Given the description of an element on the screen output the (x, y) to click on. 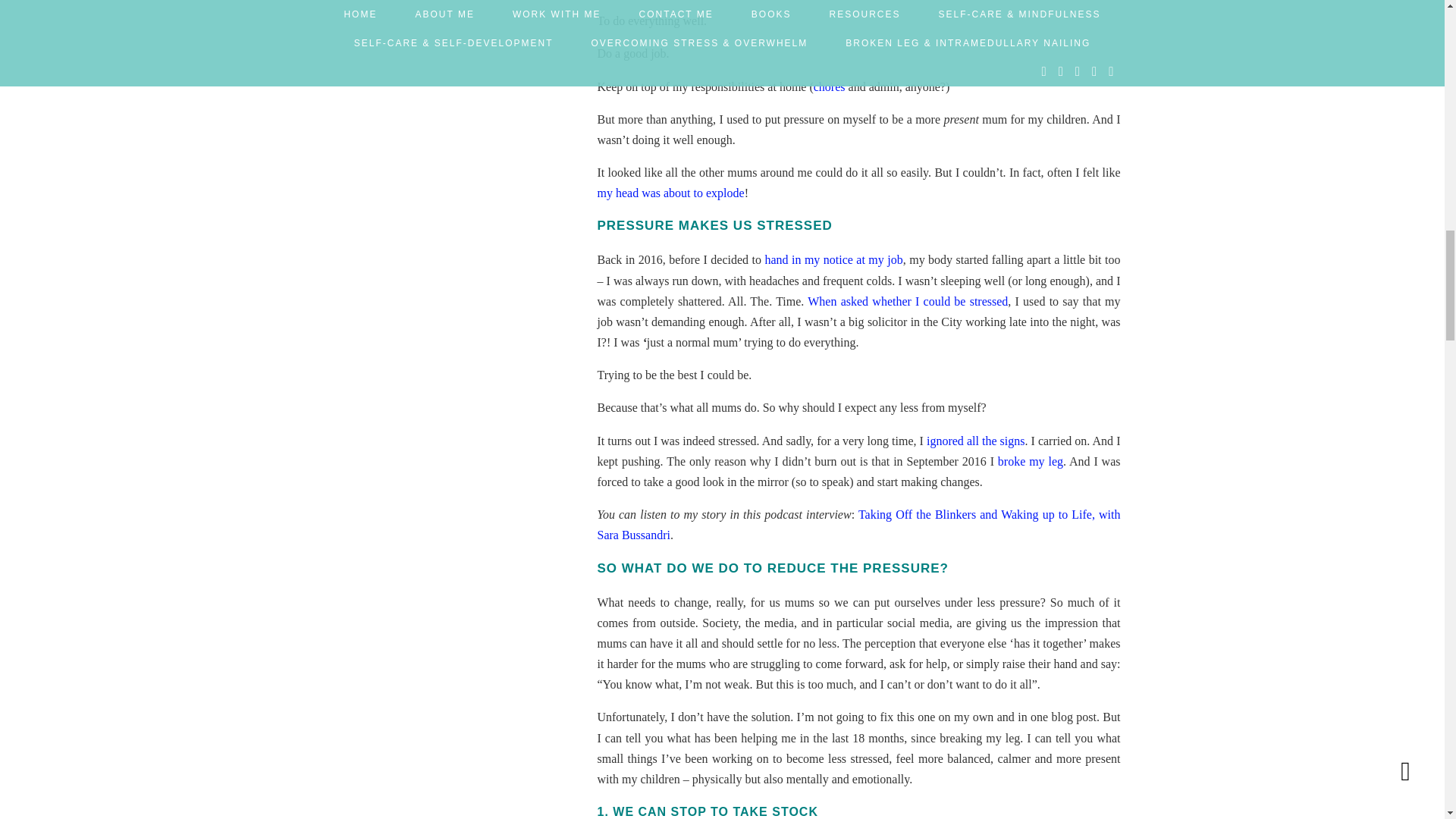
When asked whether I could be stressed (907, 300)
hand in my notice at my job (833, 259)
my head was about to explode (670, 192)
broke my leg (1029, 461)
ignored all the signs (975, 440)
chores (829, 86)
